Given the description of an element on the screen output the (x, y) to click on. 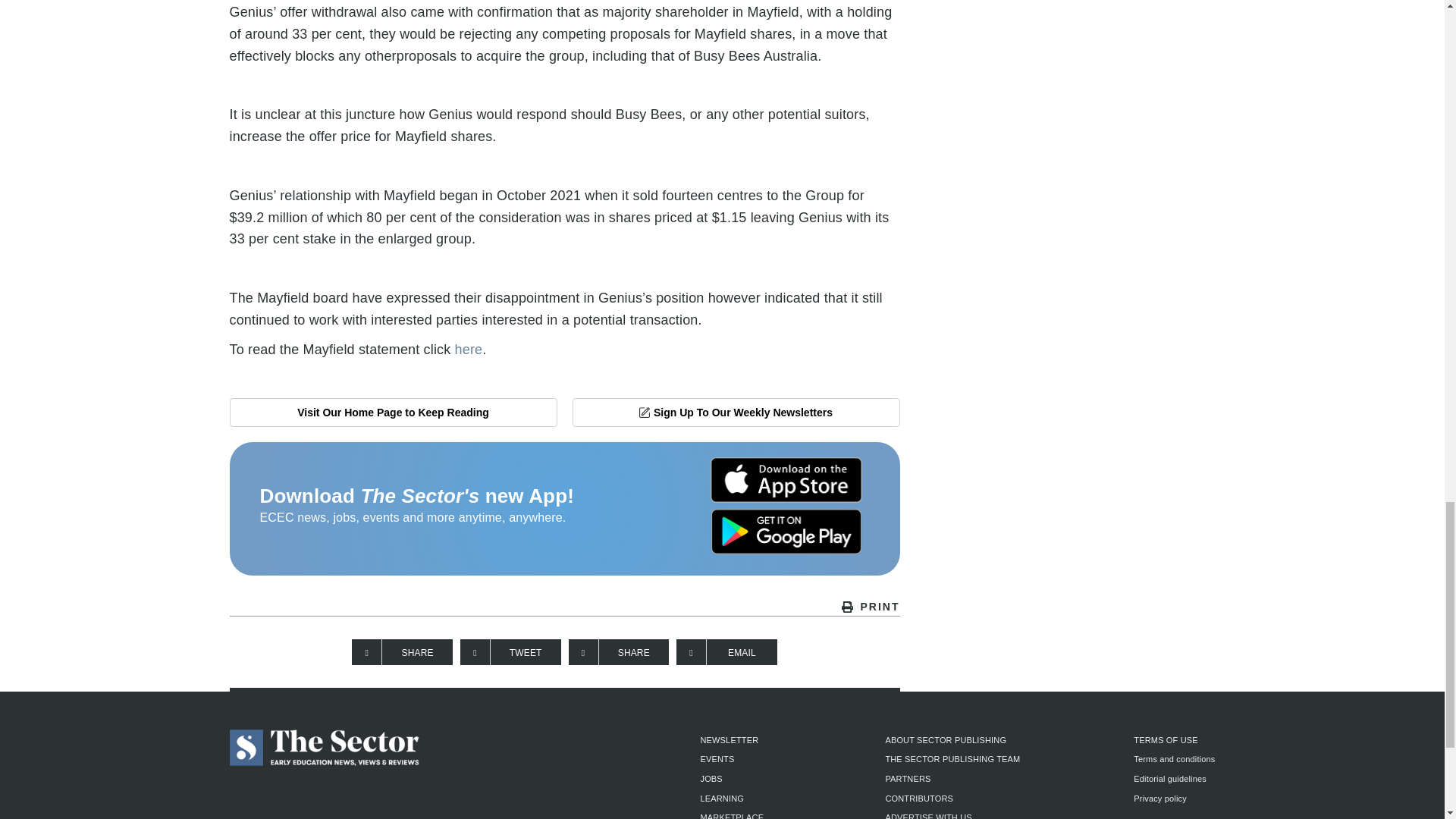
Share on Facebook (402, 652)
Tweet (510, 652)
Visit Our Home Page to Keep Reading (392, 412)
here (468, 349)
Share on LinkedIn (619, 652)
Share on Email (727, 652)
Sign Up To Our Weekly Newsletters (735, 412)
